Given the description of an element on the screen output the (x, y) to click on. 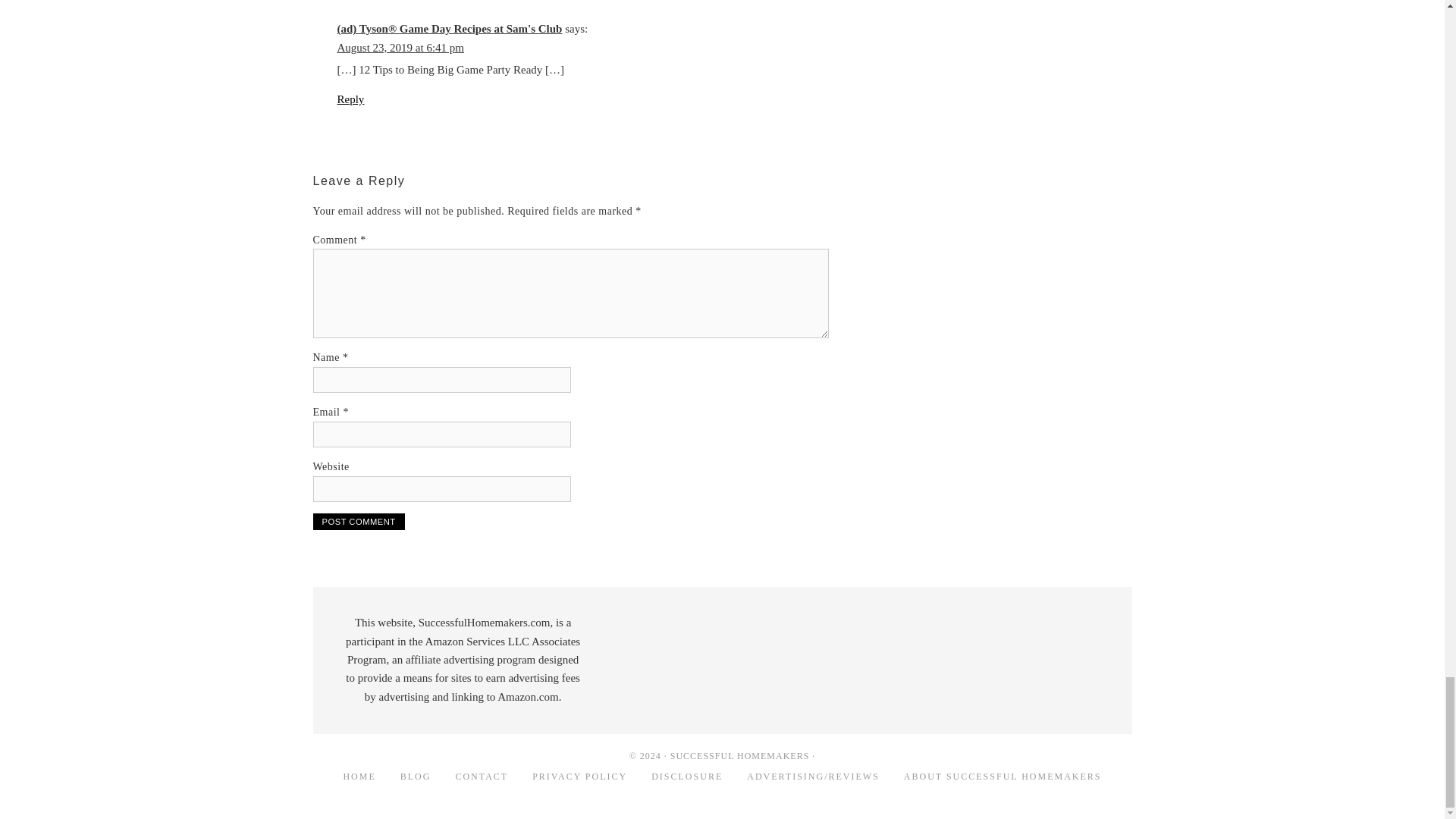
Post Comment (358, 521)
